Given the description of an element on the screen output the (x, y) to click on. 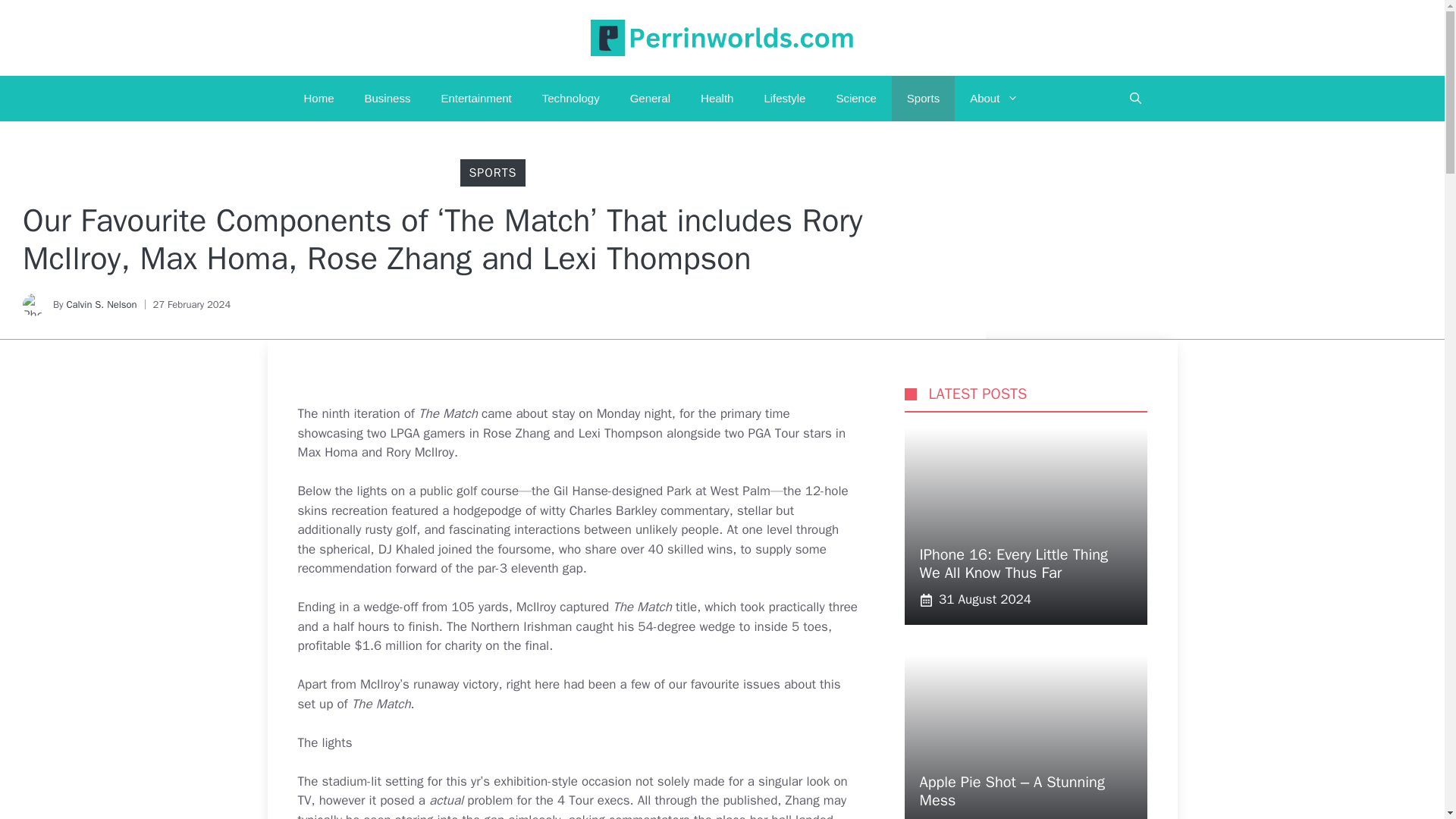
SPORTS (492, 172)
IPhone 16: Every Little Thing We All Know Thus Far (1013, 563)
Health (716, 98)
Entertainment (475, 98)
Lifestyle (784, 98)
General (649, 98)
Calvin S. Nelson (100, 304)
Technology (570, 98)
Home (318, 98)
Science (856, 98)
